Given the description of an element on the screen output the (x, y) to click on. 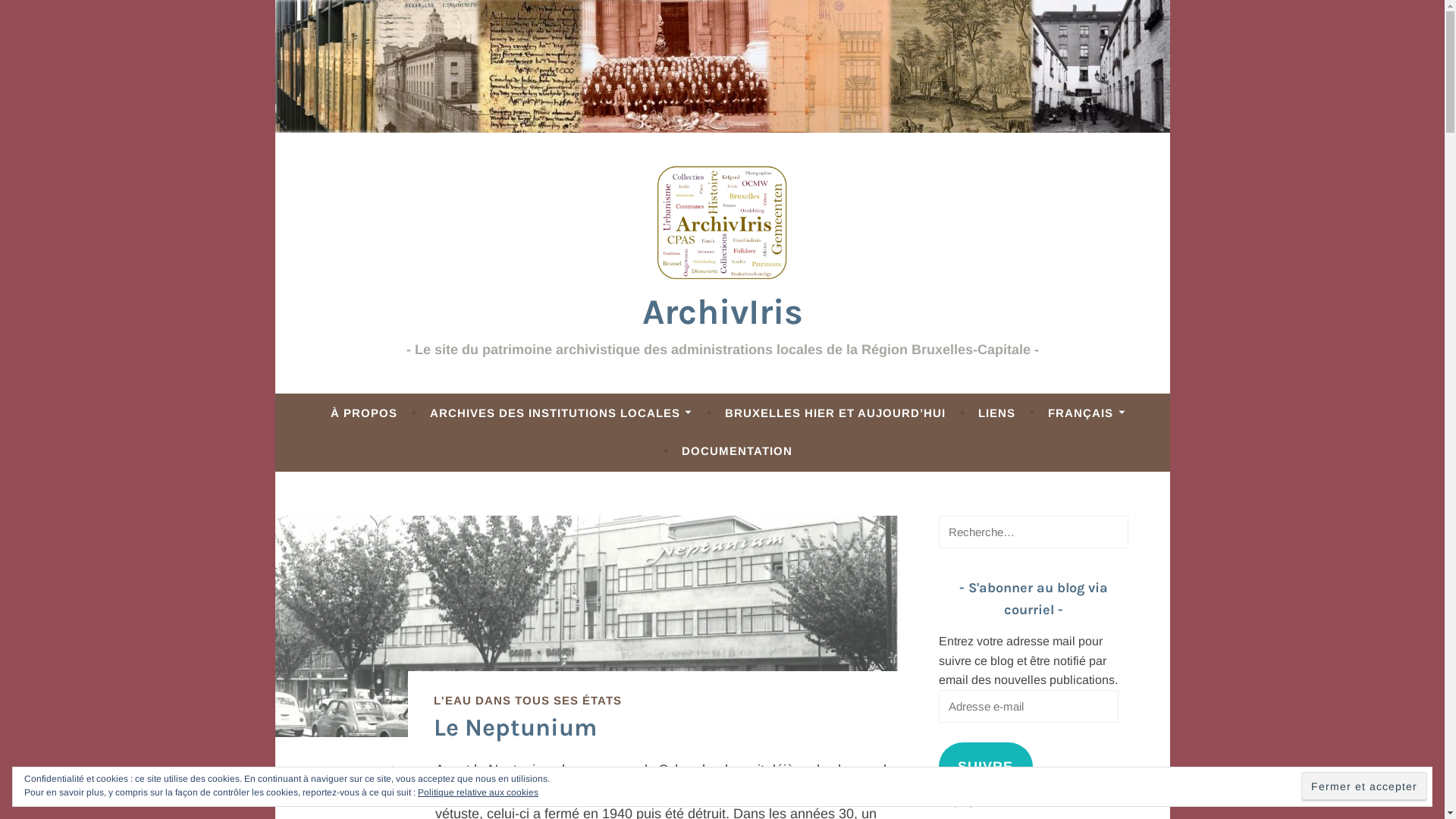
DOCUMENTATION Element type: text (736, 450)
Politique relative aux cookies Element type: text (477, 792)
ArchivIris Element type: text (721, 311)
SUIVRE Element type: text (985, 766)
ARCHIVES DES INSTITUTIONS LOCALES Element type: text (560, 412)
1 septembre 2023 Element type: text (374, 782)
LIENS Element type: text (996, 412)
Rechercher Element type: text (55, 15)
Fermer et accepter Element type: text (1364, 786)
Le Neptunium Element type: text (514, 727)
